Given the description of an element on the screen output the (x, y) to click on. 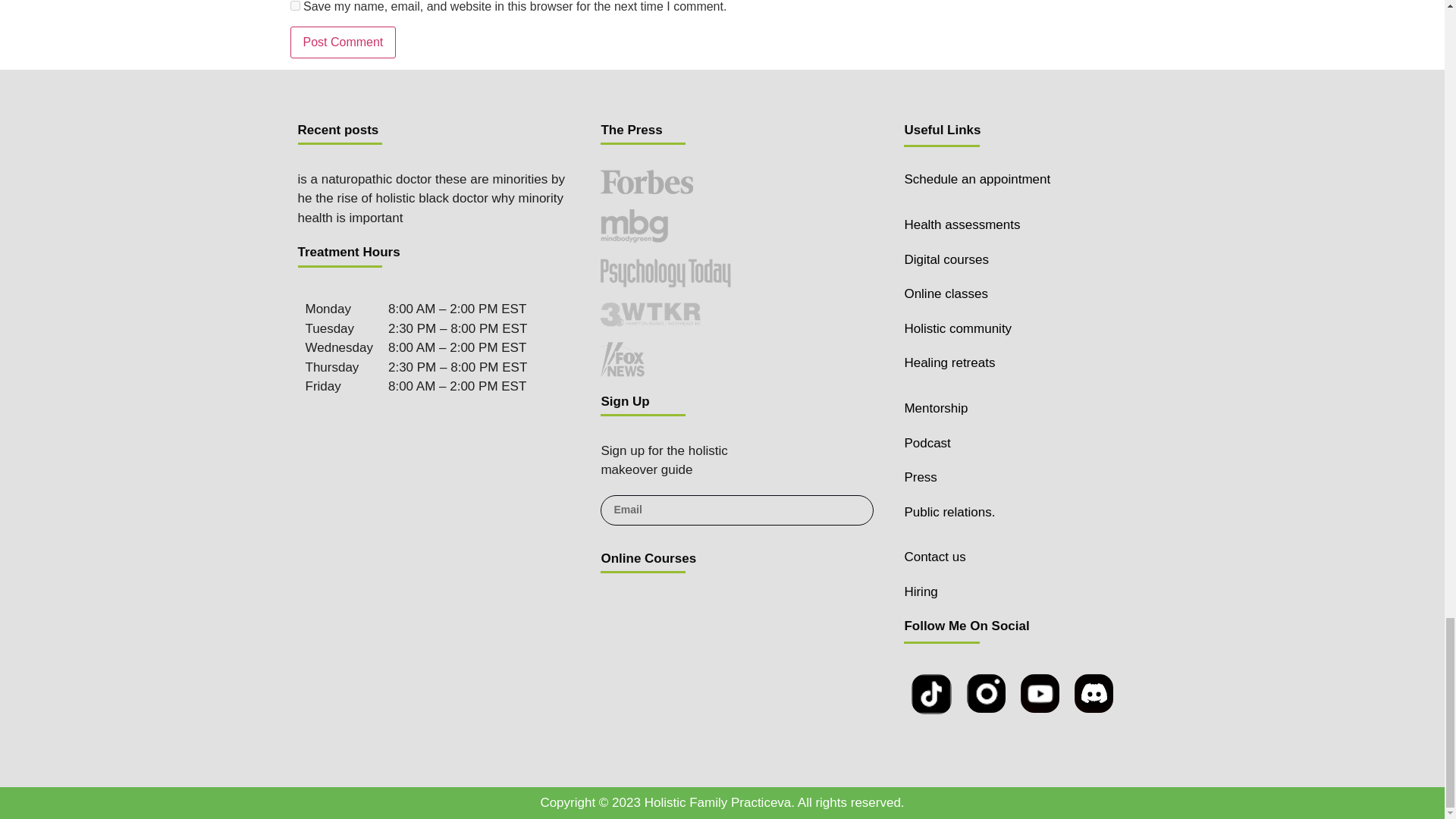
Digital courses (946, 259)
Healing retreats (949, 362)
Health assessments (962, 224)
Podcast (927, 442)
Online Courses (647, 558)
Holistic community (957, 328)
yes (294, 5)
Post Comment (342, 42)
Mentorship (936, 408)
Post Comment (342, 42)
Schedule an appointment (976, 178)
Online classes (946, 293)
Press (920, 477)
